Given the description of an element on the screen output the (x, y) to click on. 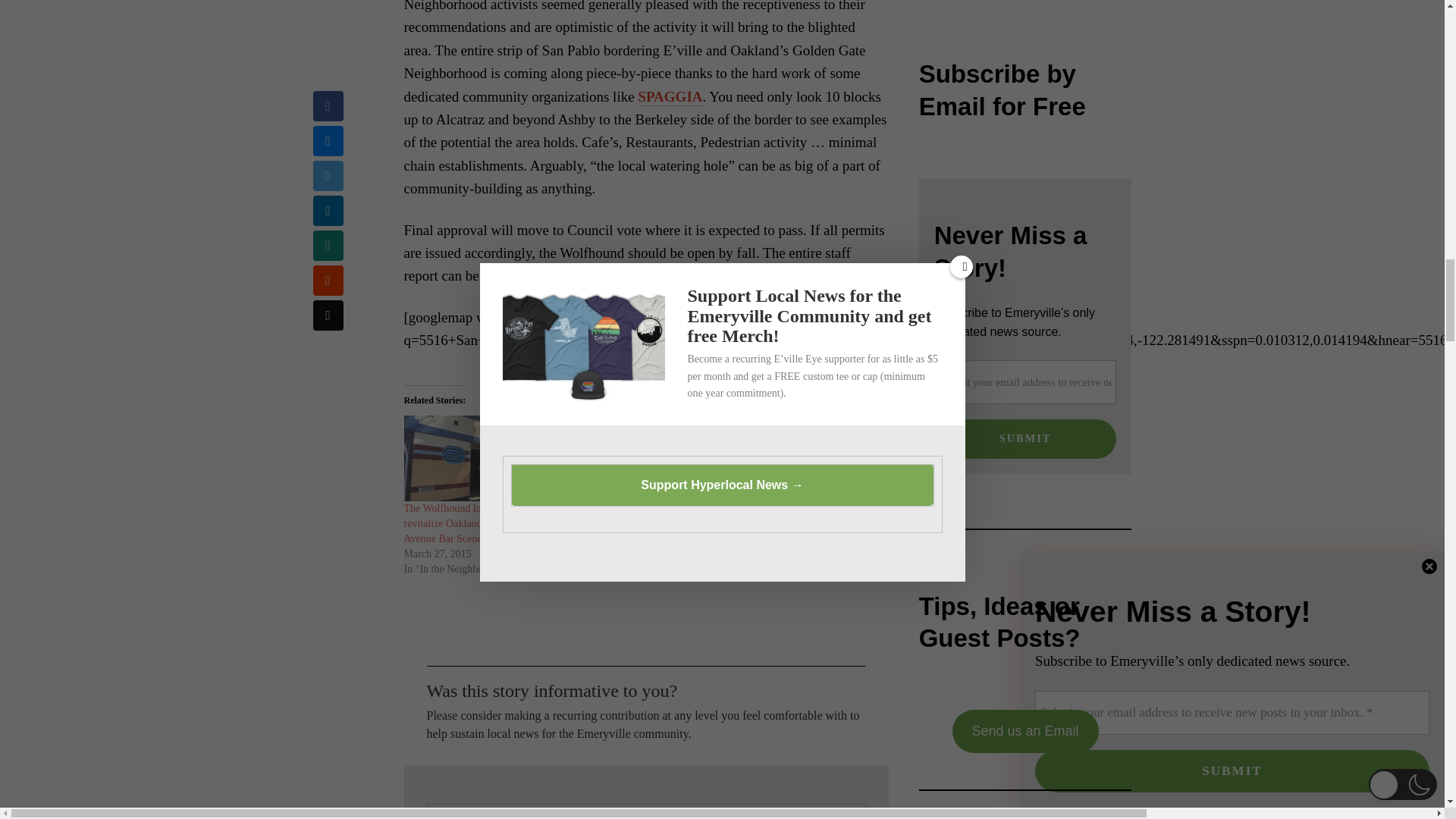
The Wolfhound Grand Opening Celebration Gallery (801, 515)
Submit (1025, 438)
The Wolfhound Grand Opening Celebration Gallery (808, 458)
